Given the description of an element on the screen output the (x, y) to click on. 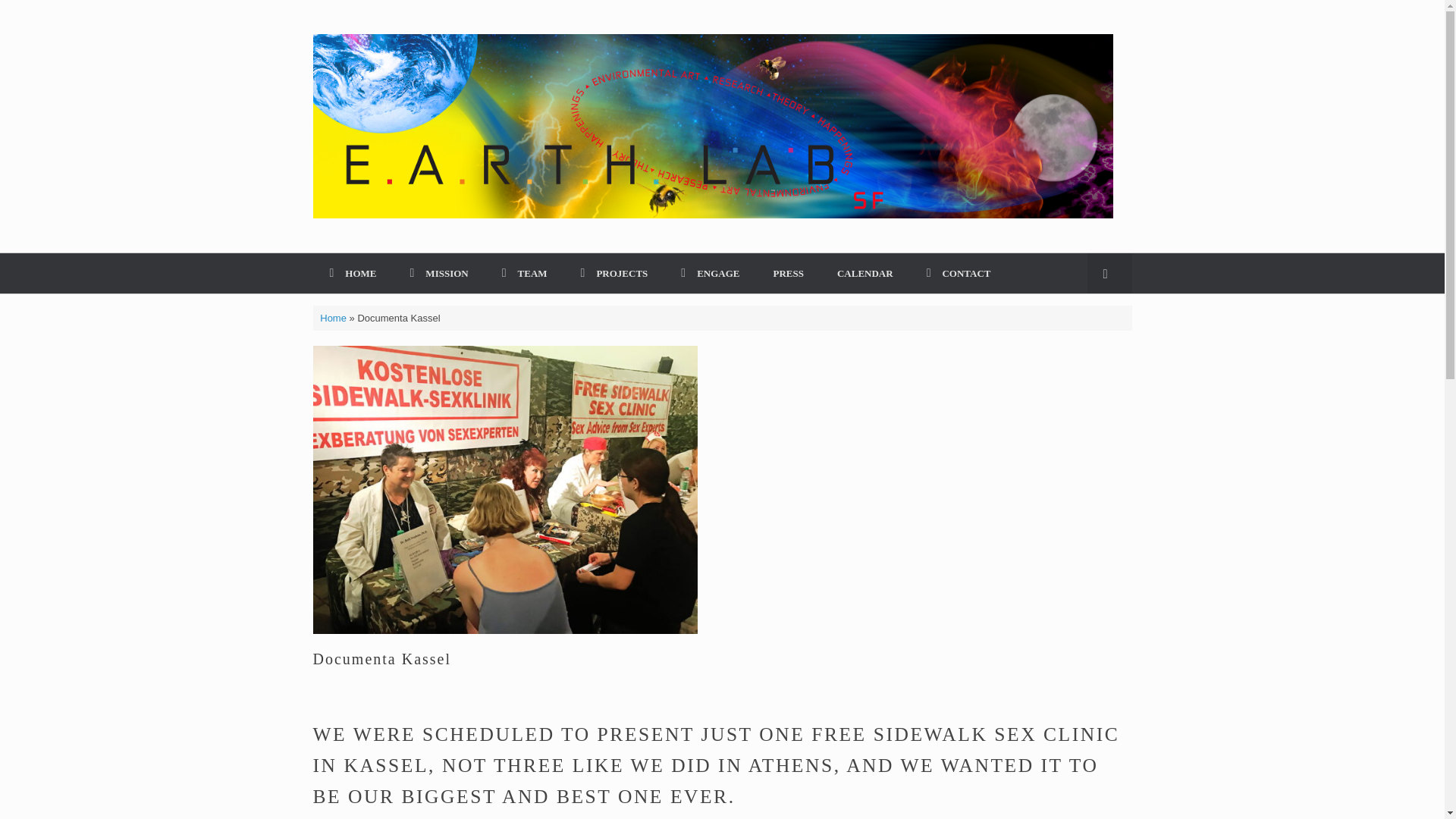
CALENDAR (865, 273)
CONTACT (958, 273)
PROJECTS (614, 273)
ENGAGE (709, 273)
MISSION (438, 273)
TEAM (524, 273)
HOME (353, 273)
Home (333, 317)
PRESS (789, 273)
